Given the description of an element on the screen output the (x, y) to click on. 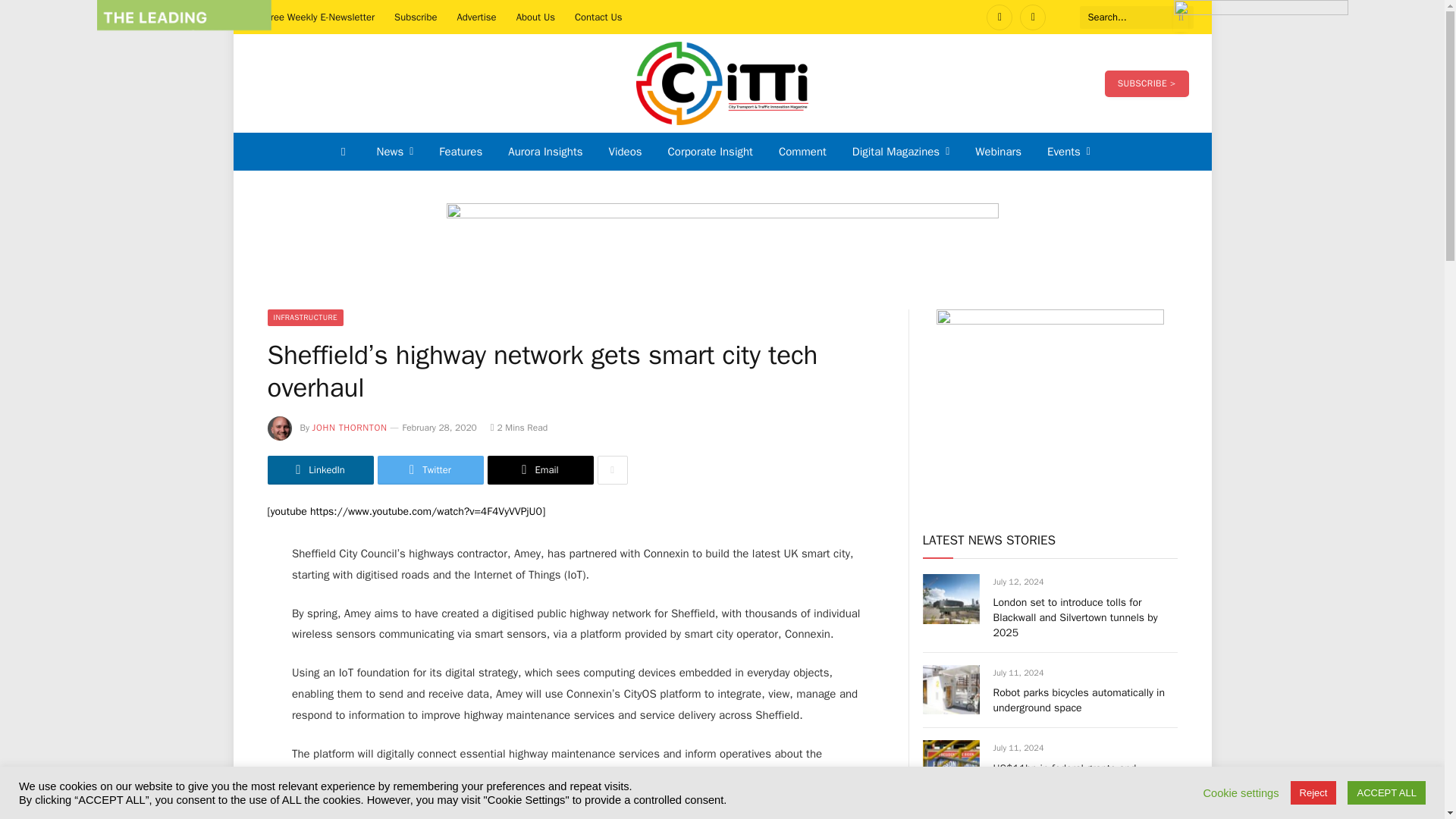
Posts by John Thornton (350, 427)
CiTTi Magazine (722, 83)
Show More Social Sharing (611, 469)
Share on LinkedIn (319, 469)
Share via Email (539, 469)
